Given the description of an element on the screen output the (x, y) to click on. 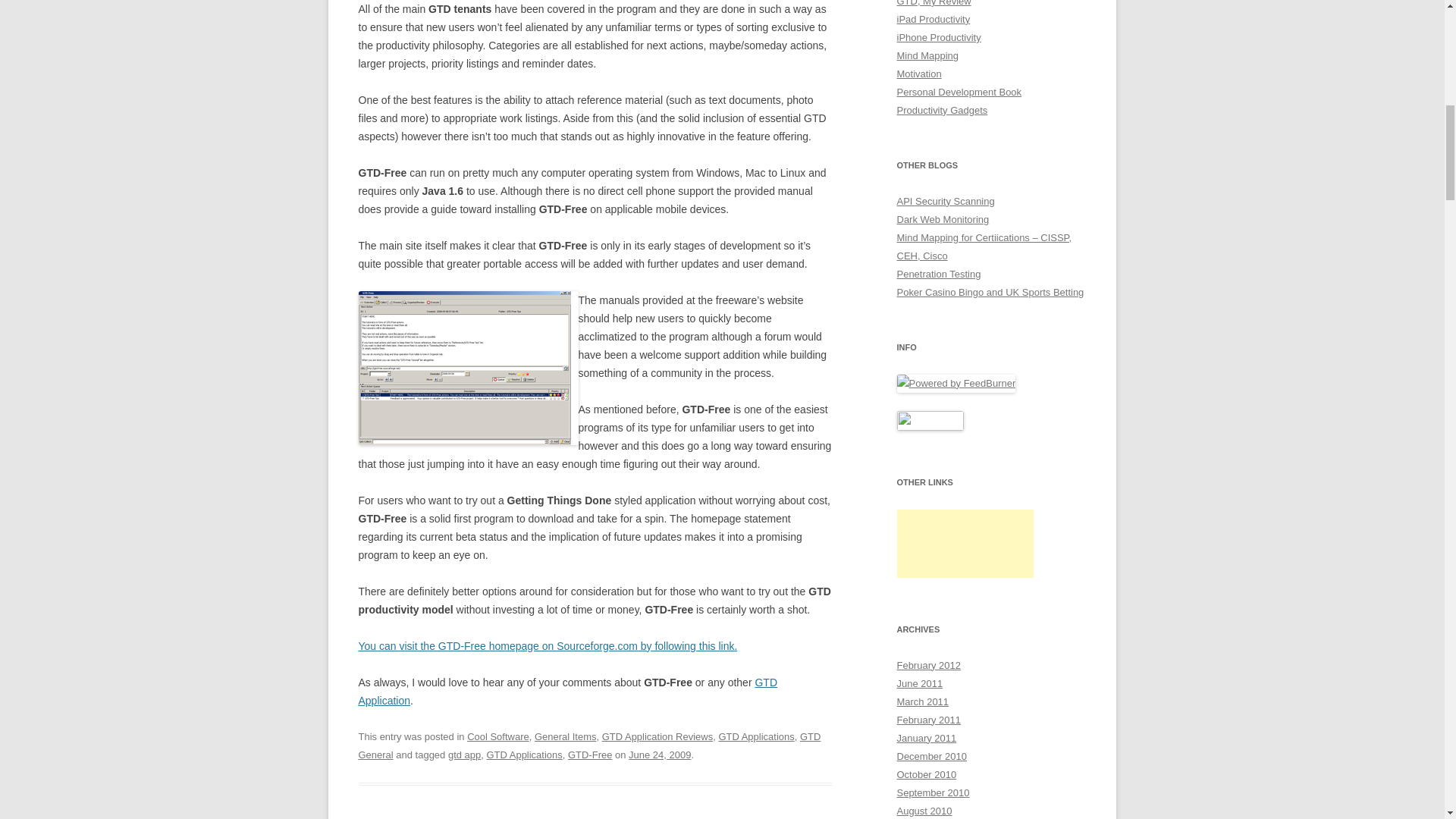
GTD Applications (524, 754)
June 24, 2009 (659, 754)
GTD Application (567, 691)
GTD Application Reviews (657, 736)
GTD-Free (589, 754)
API Security Scanning (945, 201)
GTD General (589, 745)
Penetration Testing (937, 274)
3:32 pm (659, 754)
GTD Applications (755, 736)
